Given the description of an element on the screen output the (x, y) to click on. 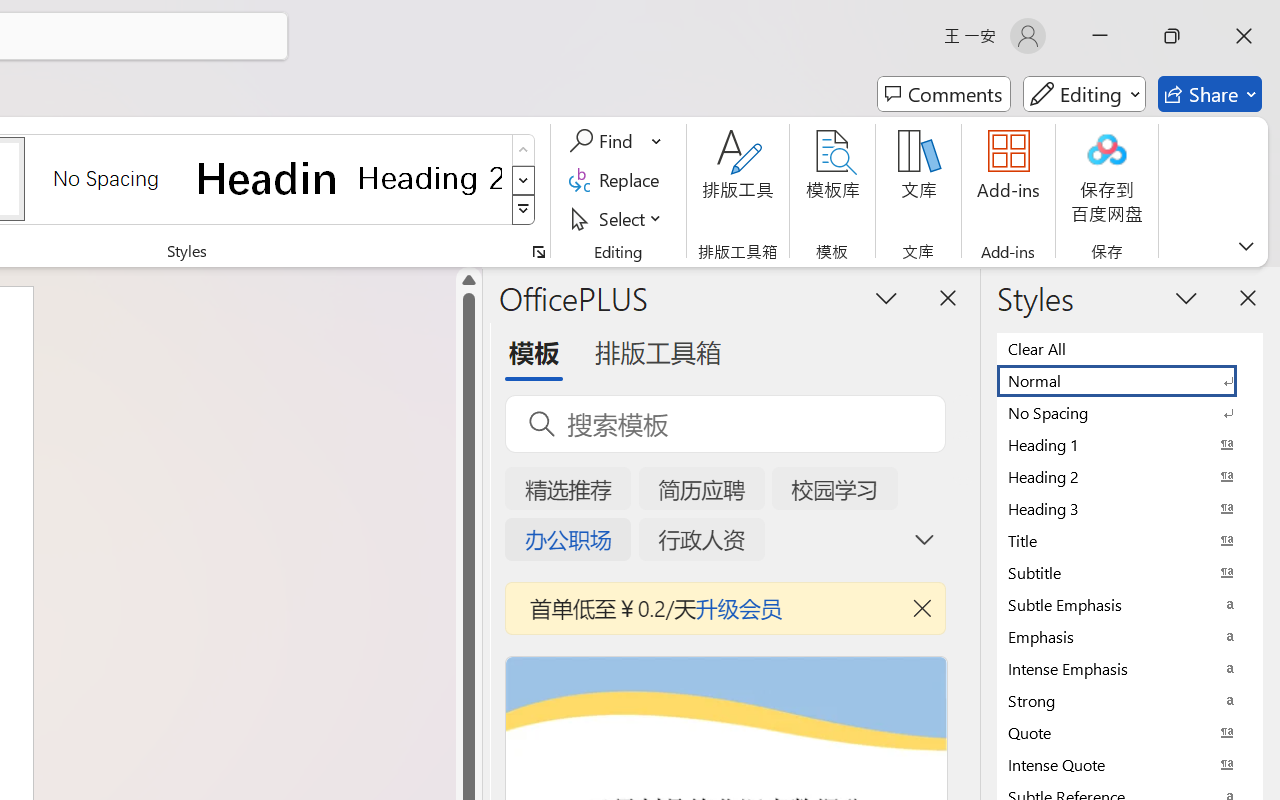
Subtitle (1130, 572)
Close (1244, 36)
Find (604, 141)
Class: NetUIImage (523, 210)
Select (618, 218)
Find (616, 141)
Replace... (617, 179)
Styles... (538, 252)
Task Pane Options (886, 297)
Quote (1130, 732)
